Given the description of an element on the screen output the (x, y) to click on. 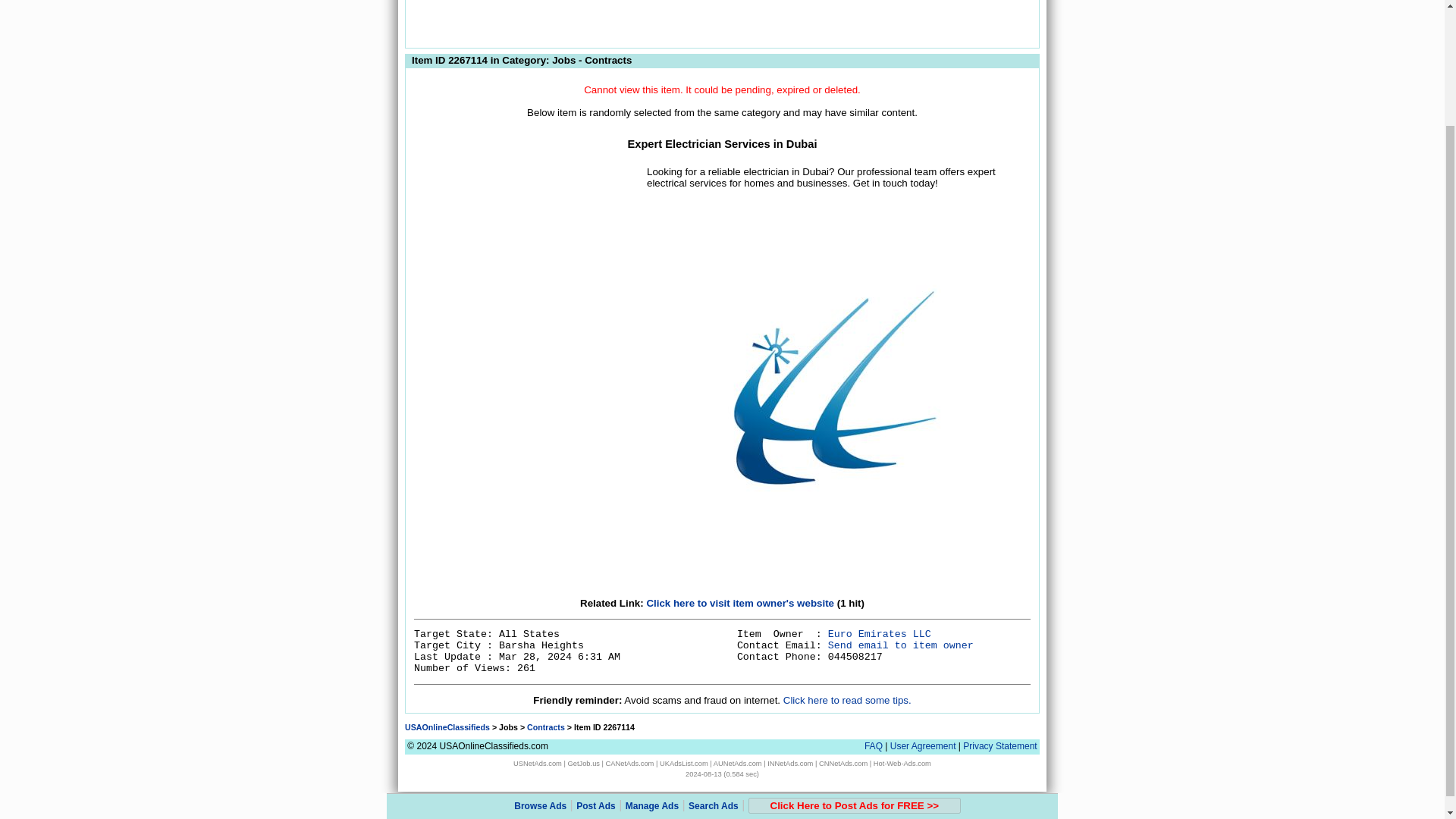
USAOnlineClassifieds (446, 727)
Euro Emirates LLC (879, 633)
Click here to visit item owner's website (740, 603)
Privacy Statement (999, 746)
UKAdsList.com (683, 763)
CANetAds.com (629, 763)
Browse Ads (539, 665)
User Agreement (922, 746)
Hot-Web-Ads.com (902, 763)
Advertisement (721, 20)
